Given the description of an element on the screen output the (x, y) to click on. 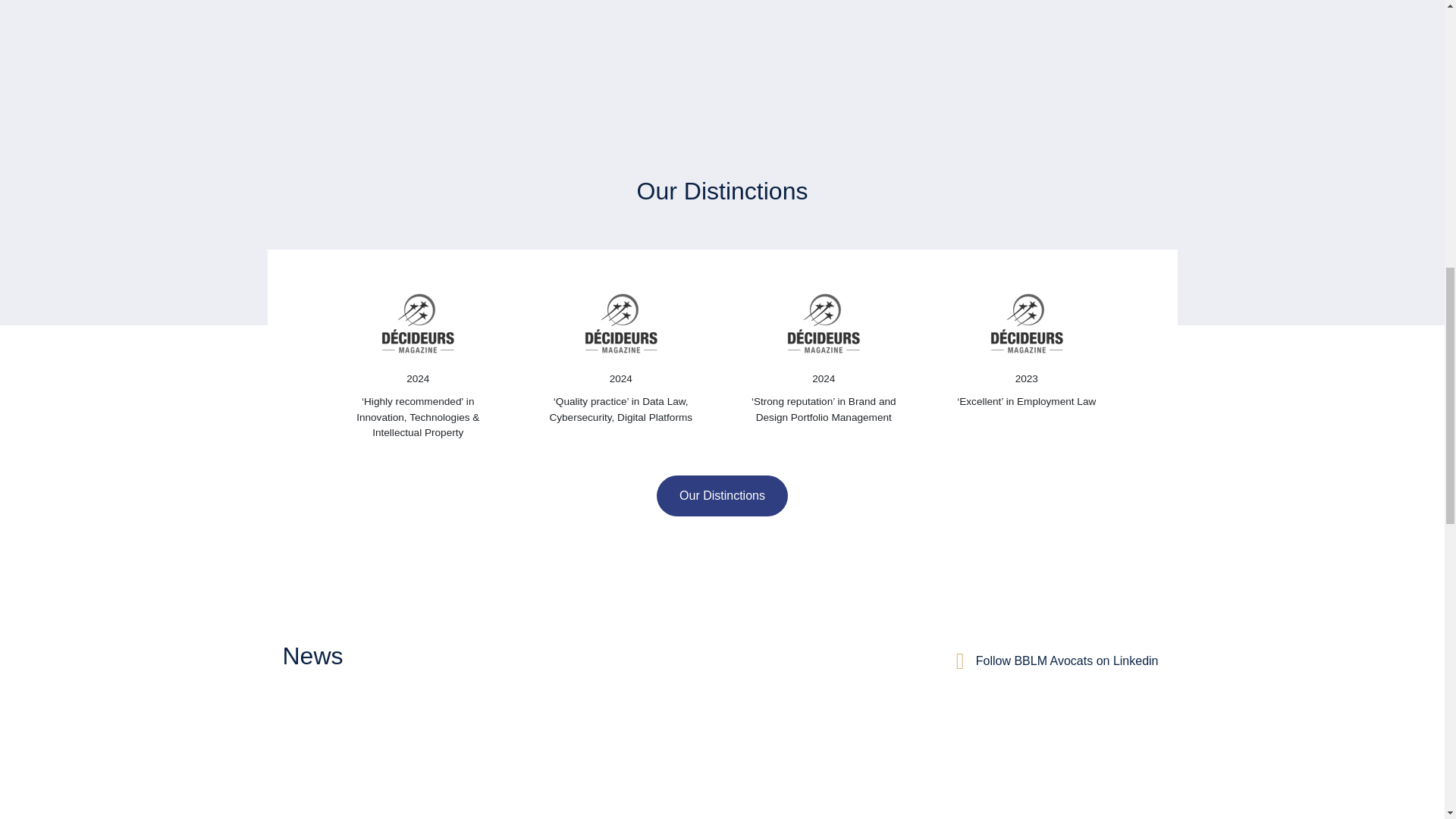
Follow BBLM Avocats on Linkedin (1066, 660)
Our Distinctions (721, 495)
